Given the description of an element on the screen output the (x, y) to click on. 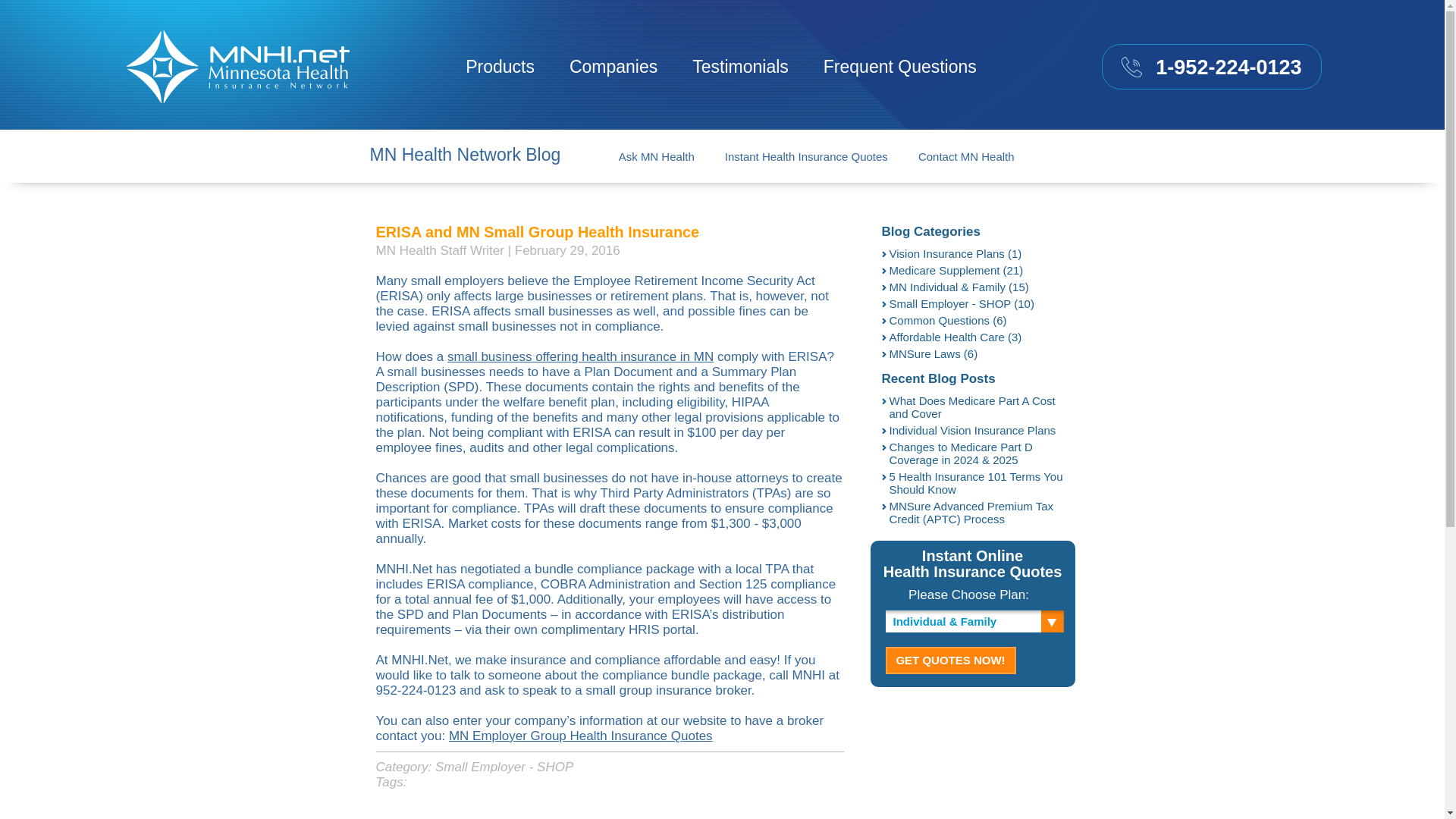
Frequent Questions (900, 66)
Instant Health Insurance Quotes (806, 155)
MN Employer Group Health Insurance Quotes (580, 735)
Testimonials (740, 66)
1-952-224-0123 (1211, 66)
Ask MN Health (656, 155)
ERISA and MN Small Group Health Insurance (537, 231)
GET QUOTES NOW! (950, 660)
Companies (613, 66)
Small Employer - SHOP (504, 766)
MN Employer Group Health Insurance Quotes (580, 735)
Products (499, 66)
Contact MN Health (966, 155)
Small Employer - SHOP (504, 766)
small business offering health insurance in MN (579, 356)
